Given the description of an element on the screen output the (x, y) to click on. 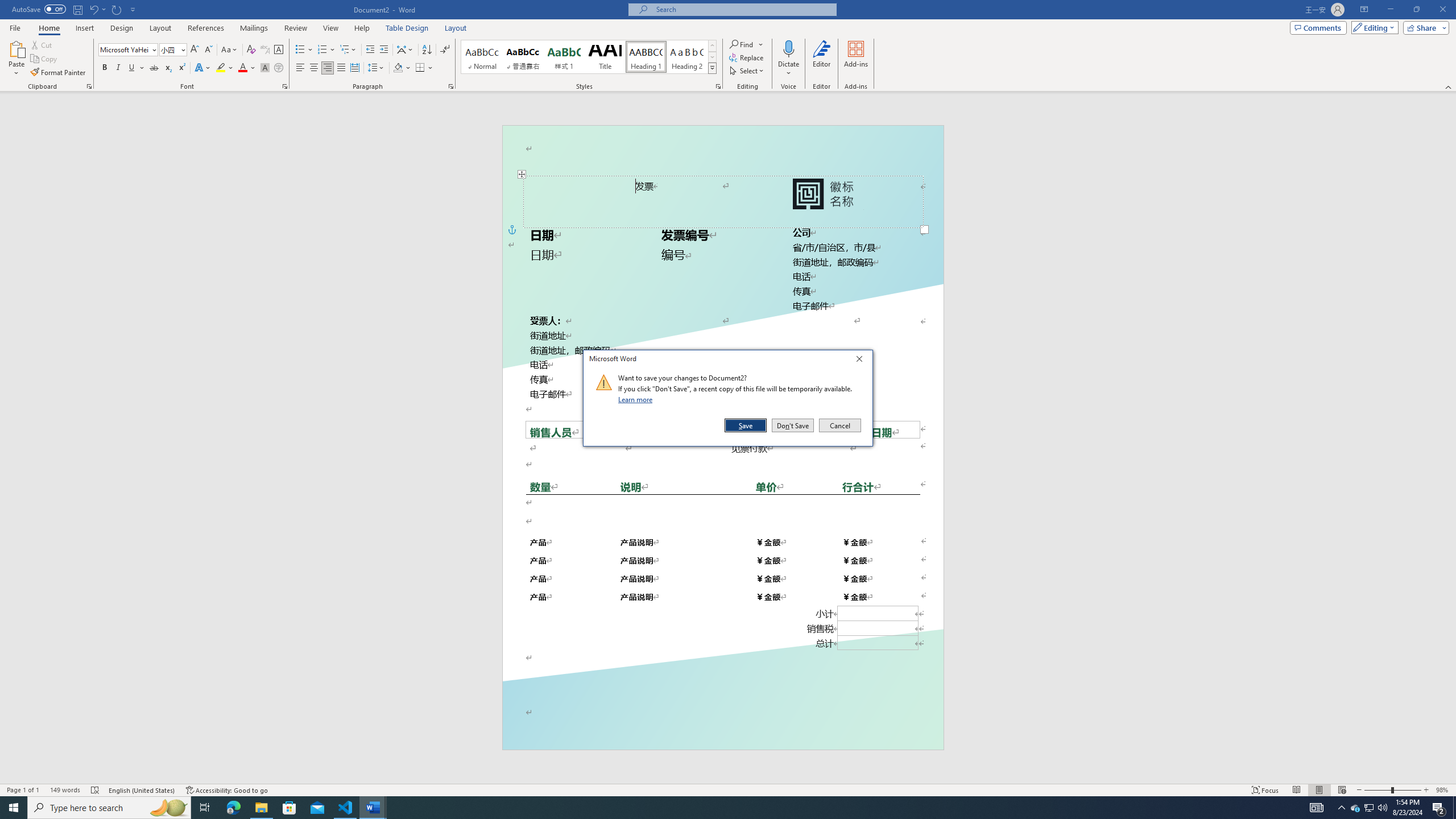
Page Number Page 1 of 1 (22, 790)
